Given the description of an element on the screen output the (x, y) to click on. 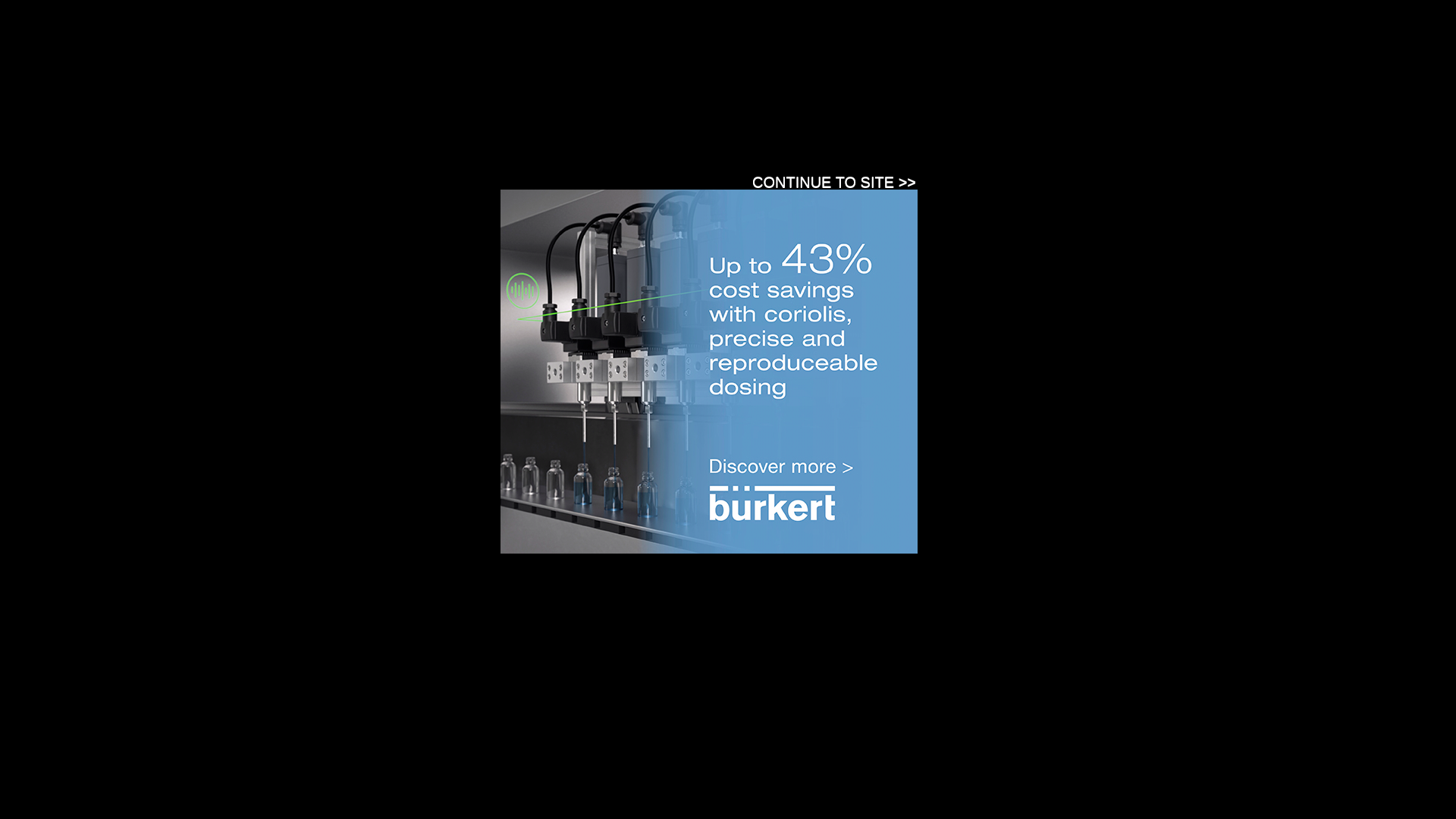
3rd party ad content Element type: hover (1025, 716)
Lab fit-out Element type: text (603, 151)
Search Element type: text (805, 332)
About Us Element type: text (635, 200)
R & D Element type: text (671, 151)
3rd party ad content Element type: hover (842, 49)
The Magazine Element type: text (336, 200)
3rd party ad content Element type: hover (1242, 449)
Pacific Laboratory Products Element type: text (401, 579)
Business Element type: text (739, 151)
Beckman Coulter Australia Pty Ltd Element type: text (421, 634)
3rd party ad content Element type: hover (212, 449)
3rd party ad content Element type: hover (495, 238)
John Morris Scientific Pty Ltd Element type: text (406, 689)
Categories Element type: text (435, 370)
Events Element type: text (402, 200)
Companies Element type: text (349, 370)
Edwards Group Pty Ltd Element type: text (388, 745)
Resources Element type: text (459, 200)
AMS Instrumentation & Calibration Pty Ltd Element type: hover (576, 446)
Computing Element type: text (522, 151)
LabOnline Element type: hover (409, 64)
Product brands Element type: text (531, 370)
Equipment Element type: text (441, 151)
Instrumentation Element type: text (347, 151)
CONTINUE TO SITE >> Element type: text (834, 181)
3rd party ad content Element type: hover (708, 371)
Products Element type: text (519, 200)
Featured Articles Element type: text (1034, 275)
Directory Element type: text (577, 200)
LabFriend Element type: text (348, 799)
Subscribe eNewsletter Element type: text (1089, 198)
Life Scientist Element type: text (702, 200)
